Given the description of an element on the screen output the (x, y) to click on. 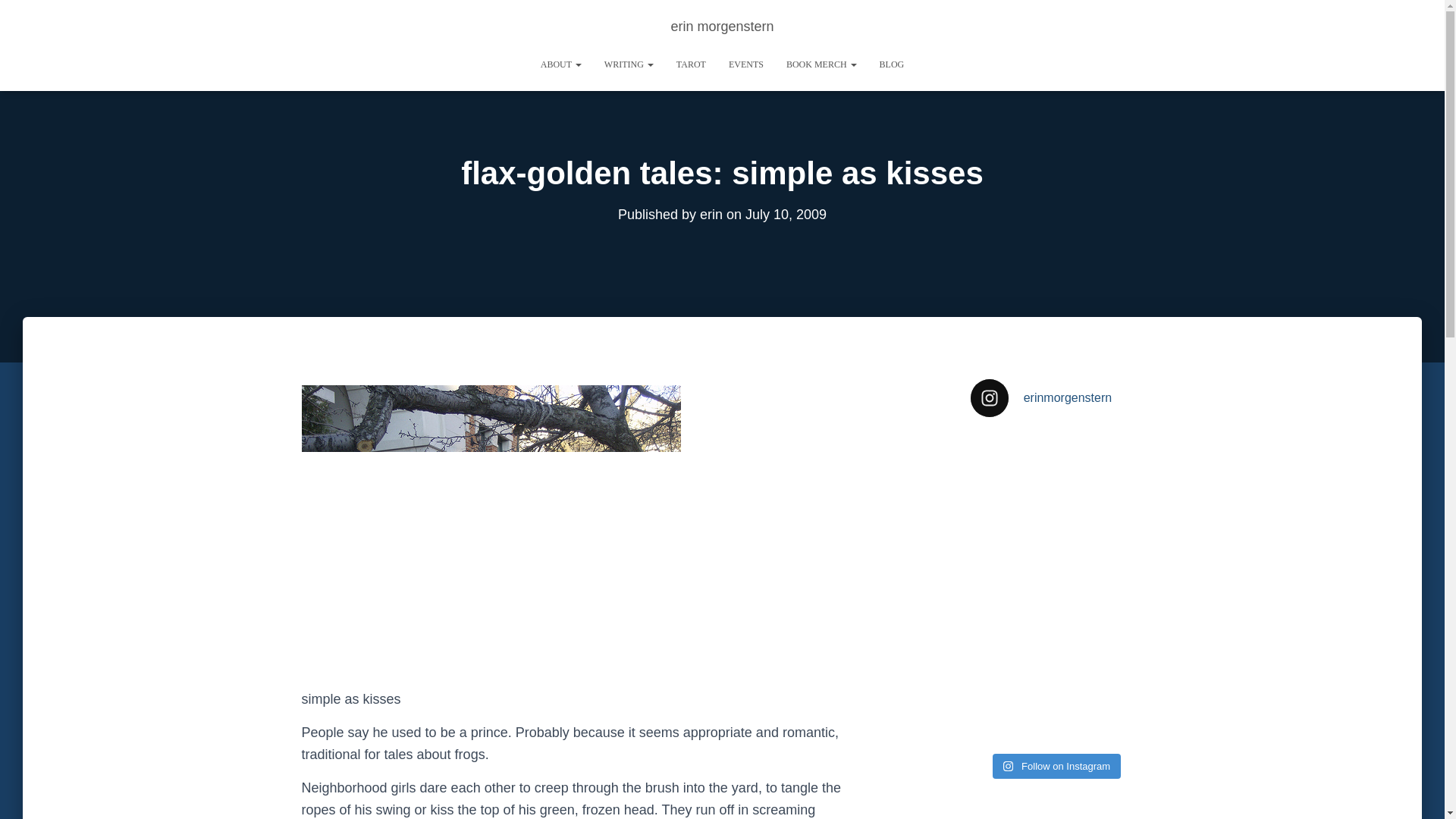
writing (628, 64)
Blog (891, 64)
erin (711, 214)
erin morgenstern (721, 26)
tarot (691, 64)
EVENTS (745, 64)
WRITING (628, 64)
erinmorgenstern (1055, 397)
BLOG (891, 64)
About (560, 64)
